Given the description of an element on the screen output the (x, y) to click on. 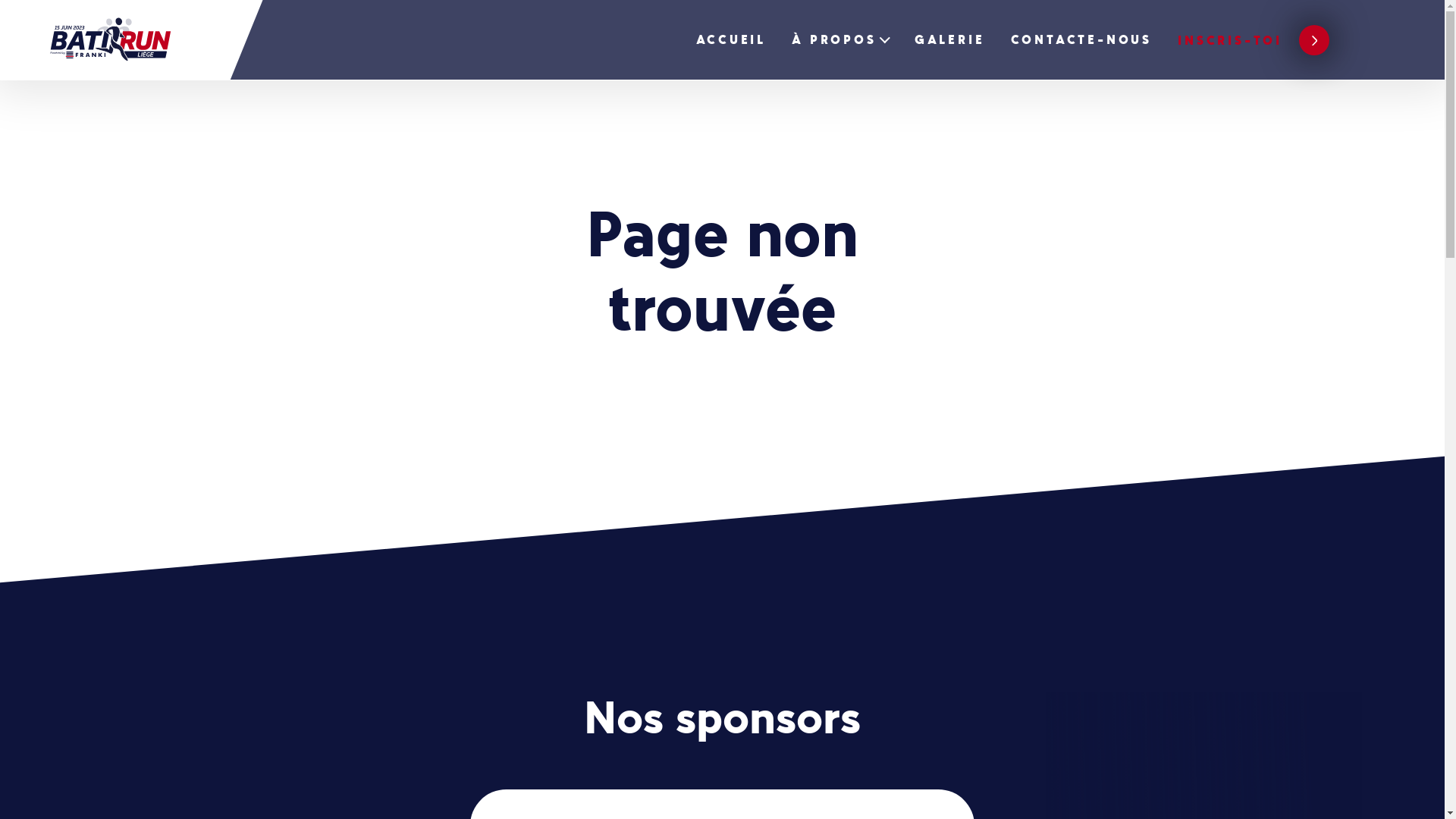
CONTACTE-NOUS Element type: text (1080, 40)
ACCUEIL Element type: text (731, 40)
Batirun Element type: hover (131, 40)
INSCRIS-TOI Element type: text (1253, 40)
GALERIE Element type: text (949, 40)
